Given the description of an element on the screen output the (x, y) to click on. 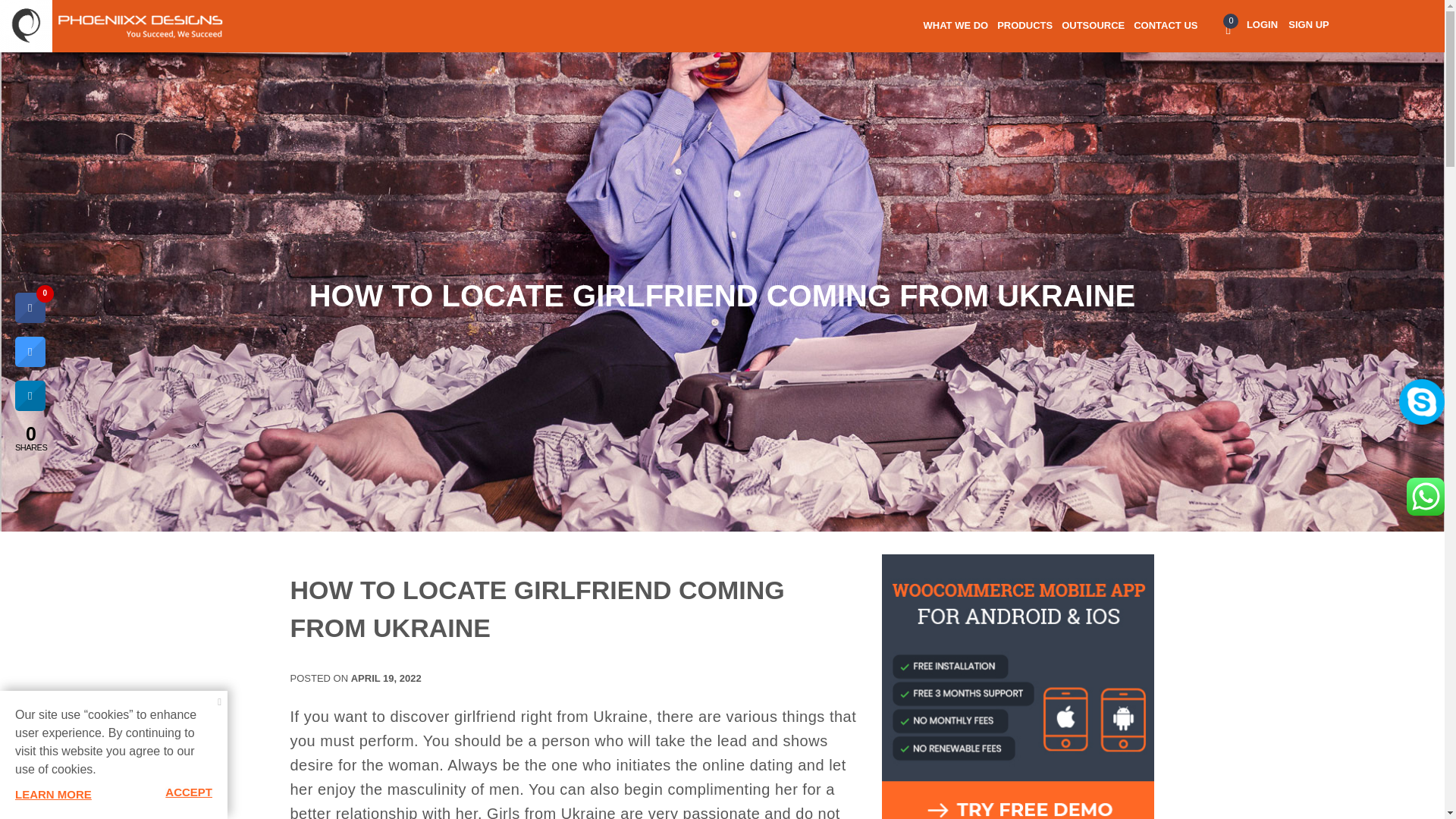
CONTACT US (1165, 32)
OUTSOURCE (1092, 32)
0 (1227, 28)
Share on Twitter (29, 362)
Share on LinkedIn (29, 406)
WHAT WE DO (955, 32)
SIGN UP (1307, 24)
Phoeniixx (26, 60)
PRODUCTS (1024, 32)
APRIL 19, 2022 (386, 677)
View your shopping cart (1227, 28)
LOGIN (1263, 24)
Share on Facebook (29, 318)
